Given the description of an element on the screen output the (x, y) to click on. 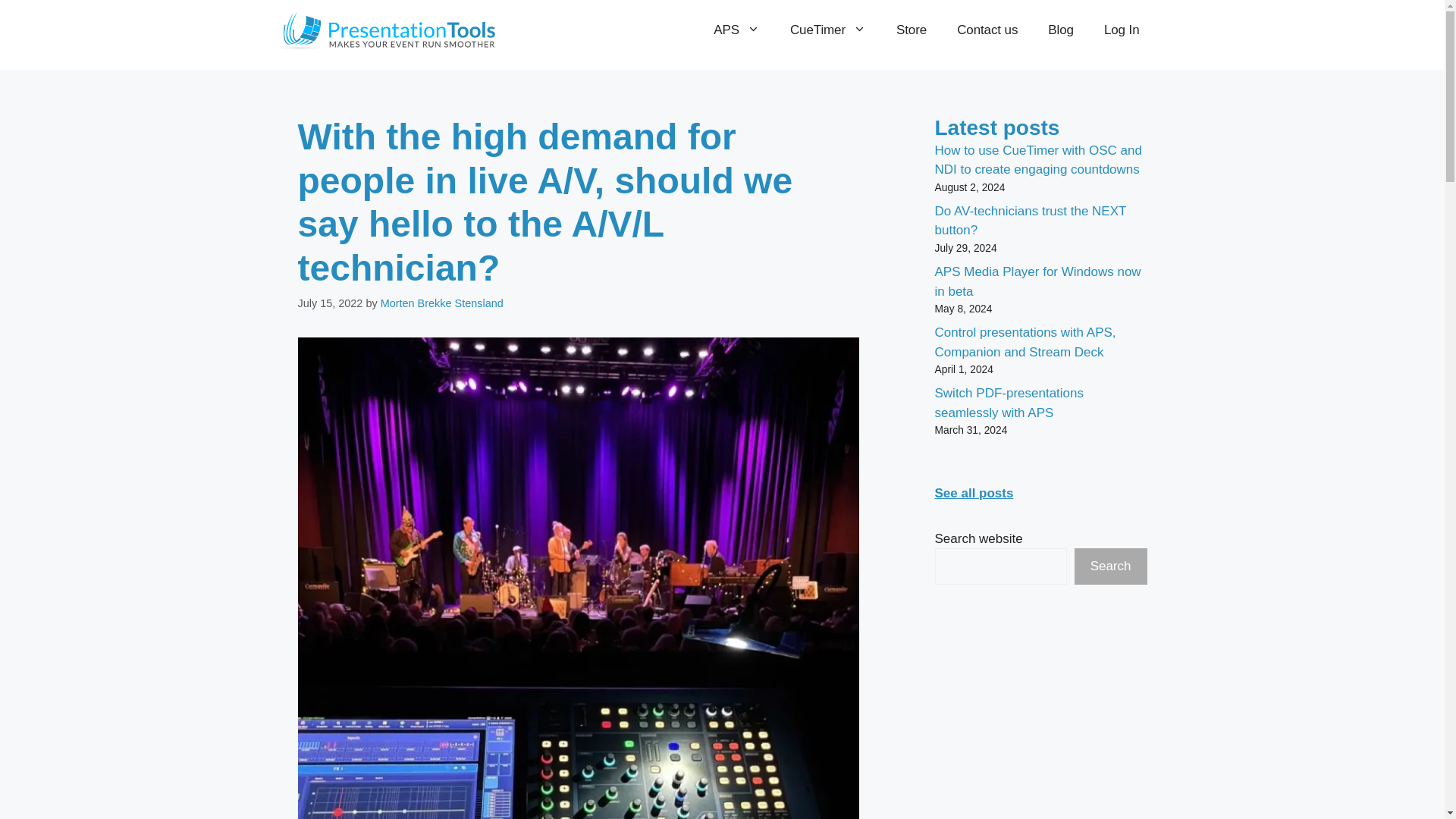
Blog (1060, 30)
Contact us (987, 30)
Control presentations with APS, Companion and Stream Deck (1024, 342)
CueTimer (827, 30)
Search (1110, 565)
View all posts by Morten Brekke Stensland (441, 303)
APS (736, 30)
Do AV-technicians trust the NEXT button? (1029, 220)
Log In (1121, 30)
Morten Brekke Stensland (441, 303)
